Given the description of an element on the screen output the (x, y) to click on. 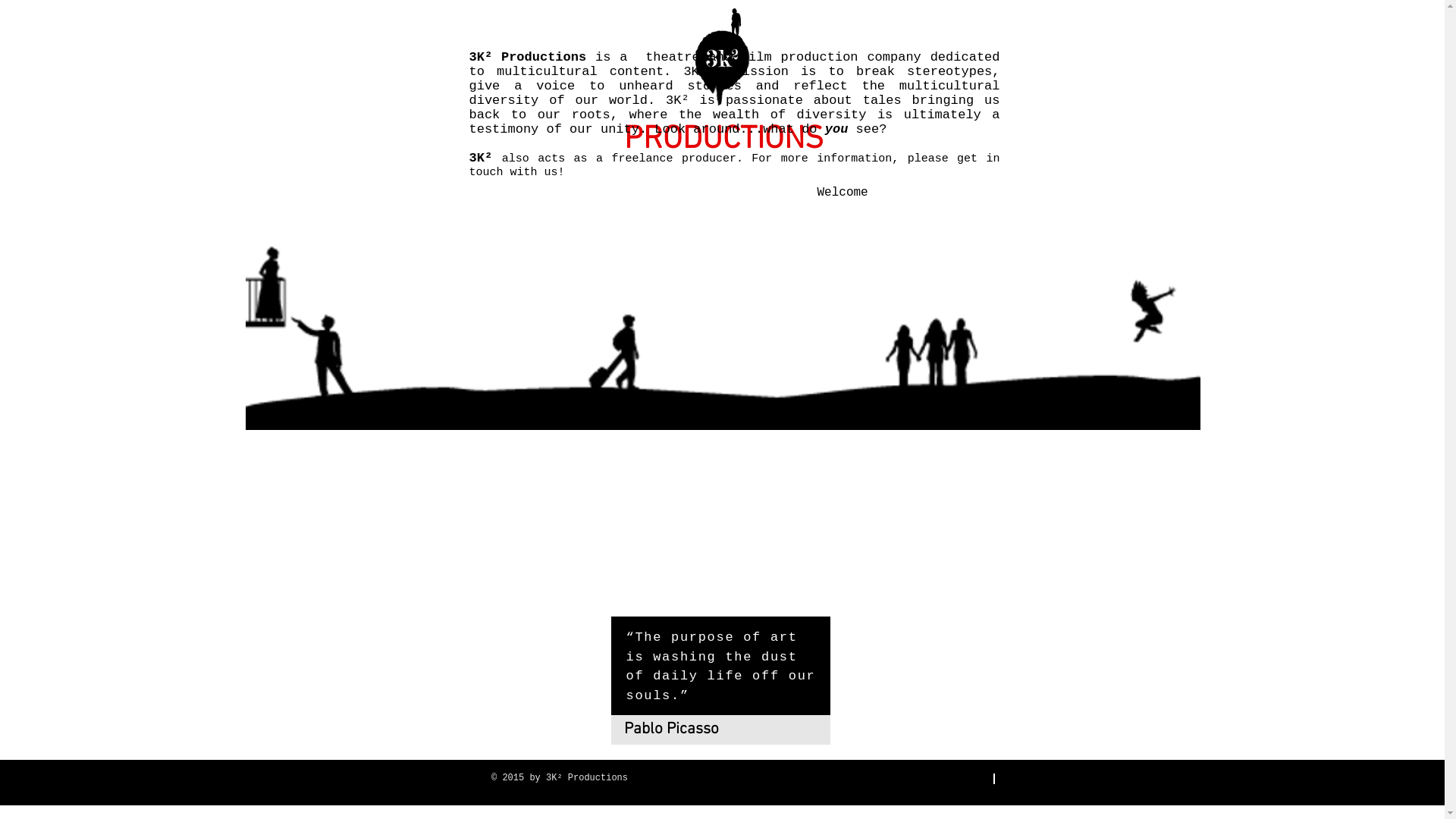
3K2-newlogo.png Element type: hover (722, 56)
bigger border.png Element type: hover (722, 335)
Welcome Element type: text (841, 185)
